Given the description of an element on the screen output the (x, y) to click on. 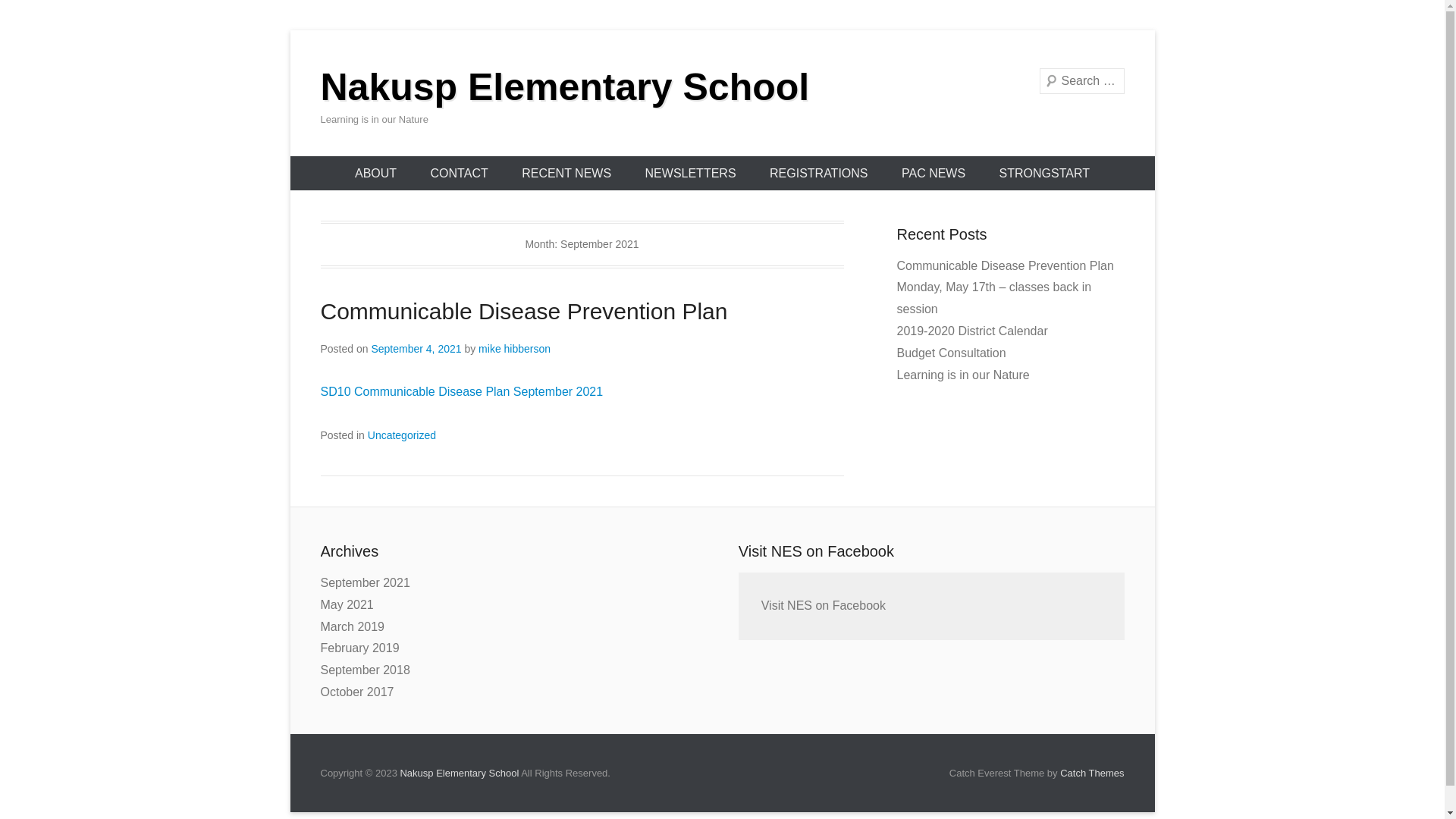
Visit NES on Facebook Element type: text (823, 605)
March 2019 Element type: text (352, 626)
STRONGSTART Element type: text (1044, 173)
Primary Menu Element type: text (289, 155)
mike hibberson Element type: text (514, 348)
May 2021 Element type: text (346, 604)
NEWSLETTERS Element type: text (690, 173)
ABOUT Element type: text (375, 173)
Search Element type: text (32, 15)
SD10 Communicable Disease Plan September 2021 Element type: text (461, 391)
February 2019 Element type: text (359, 647)
Nakusp Elementary School Element type: text (458, 772)
Visit NES on Facebook Element type: text (816, 550)
September 2021 Element type: text (364, 582)
PAC NEWS Element type: text (933, 173)
CONTACT Element type: text (459, 173)
Learning is in our Nature Element type: text (962, 374)
RECENT NEWS Element type: text (566, 173)
Budget Consultation Element type: text (950, 352)
September 4, 2021 Element type: text (415, 348)
October 2017 Element type: text (356, 691)
REGISTRATIONS Element type: text (818, 173)
2019-2020 District Calendar Element type: text (971, 330)
Nakusp Elementary School Element type: text (564, 86)
Communicable Disease Prevention Plan Element type: text (523, 310)
Skip to content Element type: text (289, 29)
September 2018 Element type: text (364, 669)
Catch Themes Element type: text (1091, 772)
Uncategorized Element type: text (401, 435)
Communicable Disease Prevention Plan Element type: text (1004, 265)
